Given the description of an element on the screen output the (x, y) to click on. 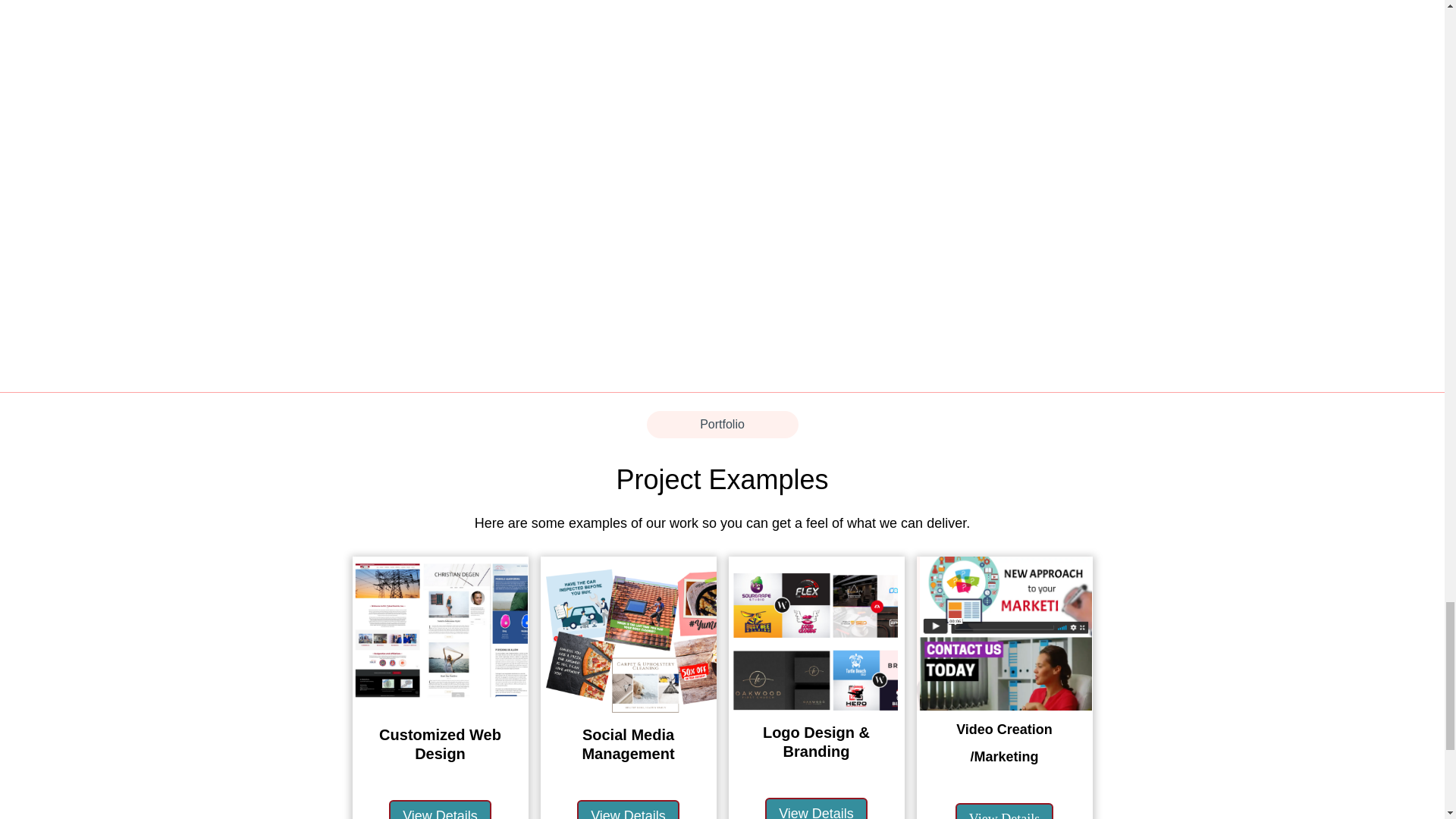
View Details (440, 809)
View Details (1003, 811)
View Details (816, 808)
View Details (627, 809)
